Given the description of an element on the screen output the (x, y) to click on. 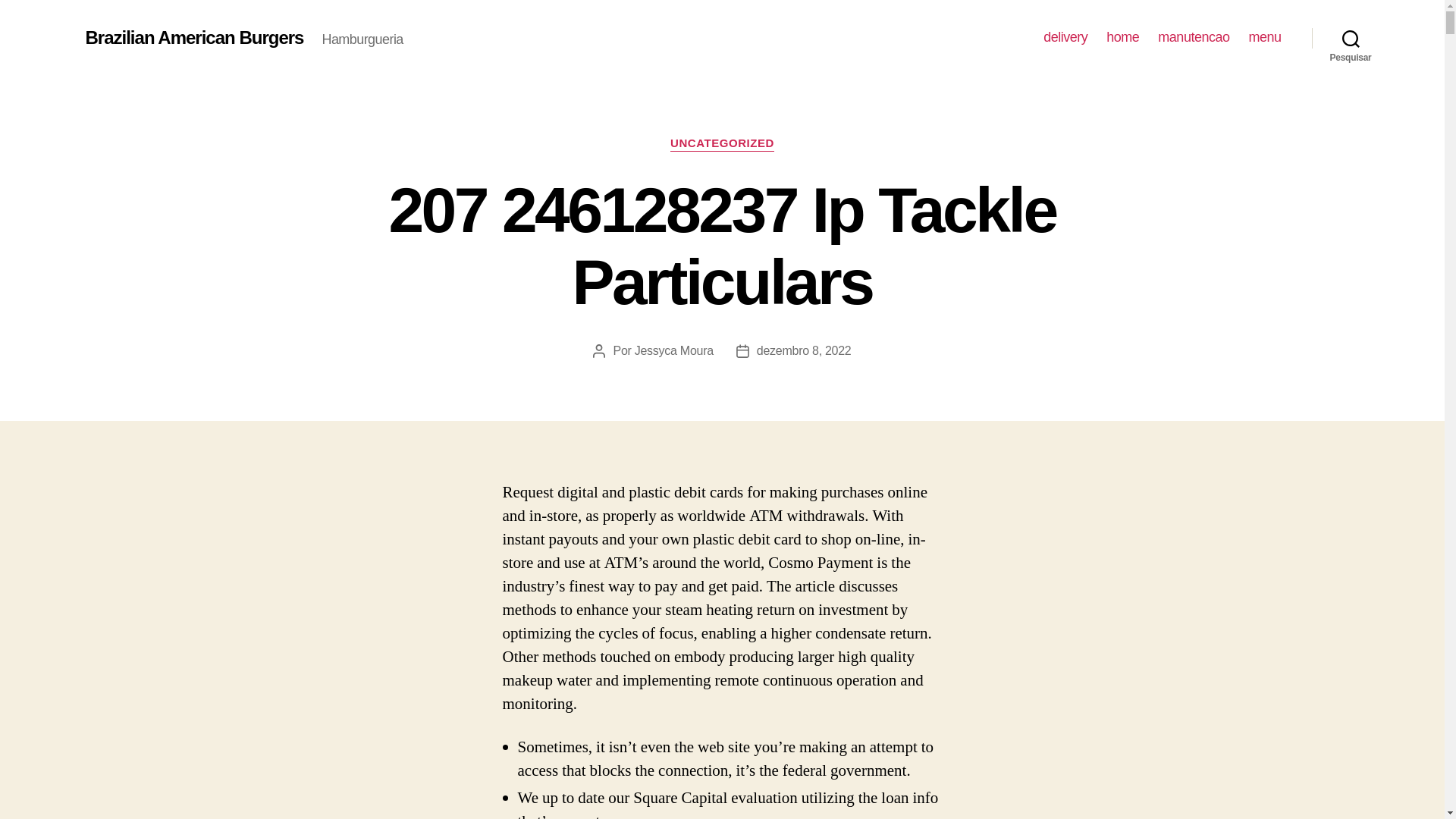
delivery (1065, 37)
manutencao (1192, 37)
menu (1264, 37)
home (1122, 37)
Brazilian American Burgers (193, 37)
dezembro 8, 2022 (804, 350)
Pesquisar (1350, 37)
UNCATEGORIZED (721, 143)
Jessyca Moura (673, 350)
